Given the description of an element on the screen output the (x, y) to click on. 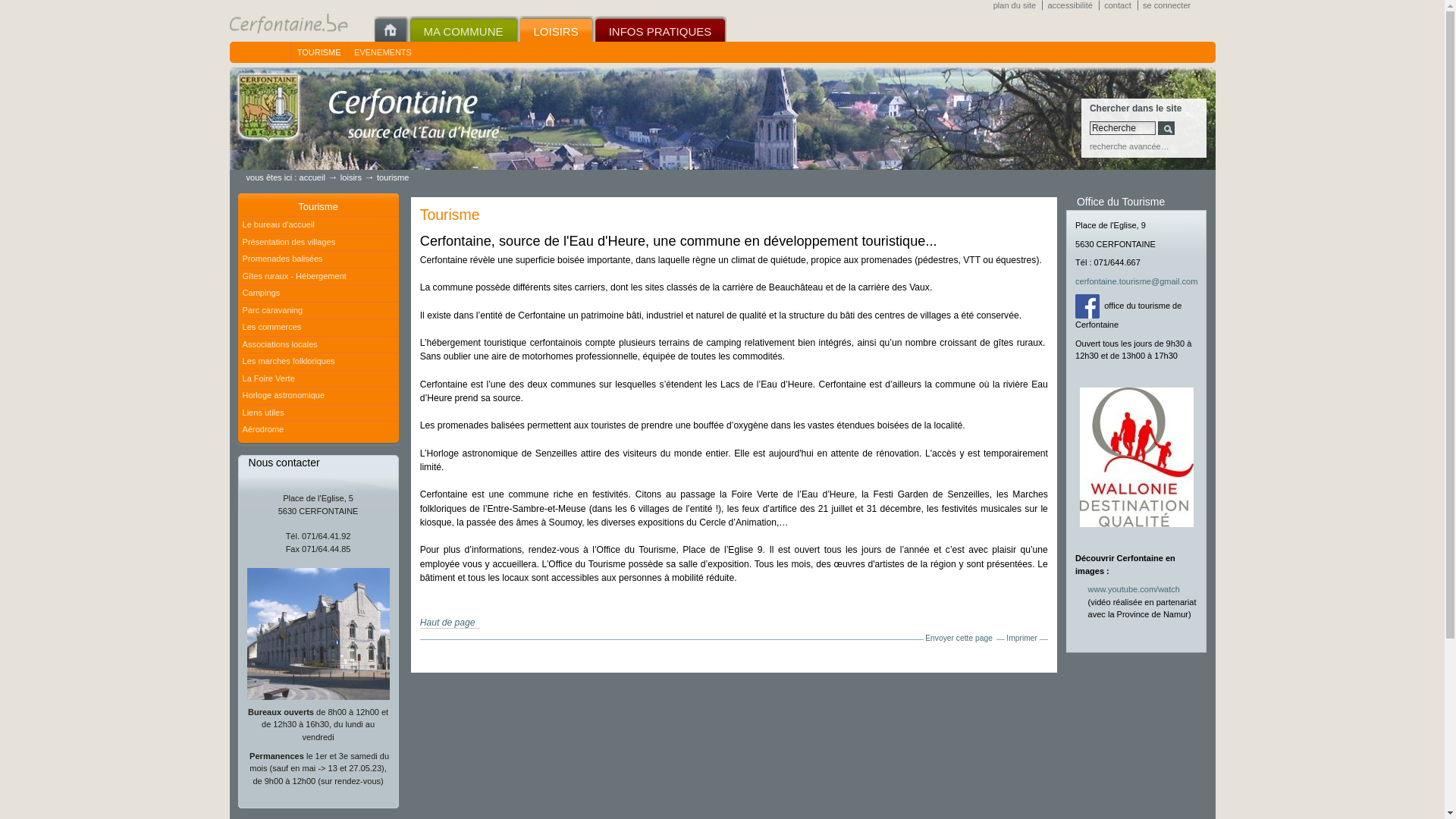
Associations locales Element type: text (318, 344)
cerfontaine.tourisme@gmail.com Element type: text (1136, 280)
Tourisme Element type: text (318, 206)
Envoyer cette page Element type: text (958, 637)
Les marches folkloriques Element type: text (318, 361)
loisirs Element type: text (350, 177)
LOISIRS Element type: text (555, 28)
plan du site Element type: text (1017, 5)
Le bureau d'accueil Element type: text (318, 224)
Liens utiles Element type: text (318, 412)
Horloge astronomique Element type: text (318, 395)
MA COMMUNE Element type: text (462, 28)
www.youtube.com/watch Element type: text (1133, 588)
TOURISME Element type: text (317, 51)
Imprimer Element type: text (1021, 637)
Les commerces Element type: text (318, 327)
Recherche Element type: hover (1122, 127)
La Foire Verte Element type: text (318, 378)
accueil Element type: text (311, 177)
INFOS PRATIQUES Element type: text (660, 28)
Haut de page   Element type: text (450, 622)
Campings Element type: text (318, 293)
Parc caravaning Element type: text (318, 310)
se connecter Element type: text (1169, 5)
contact Element type: text (1120, 5)
